Given the description of an element on the screen output the (x, y) to click on. 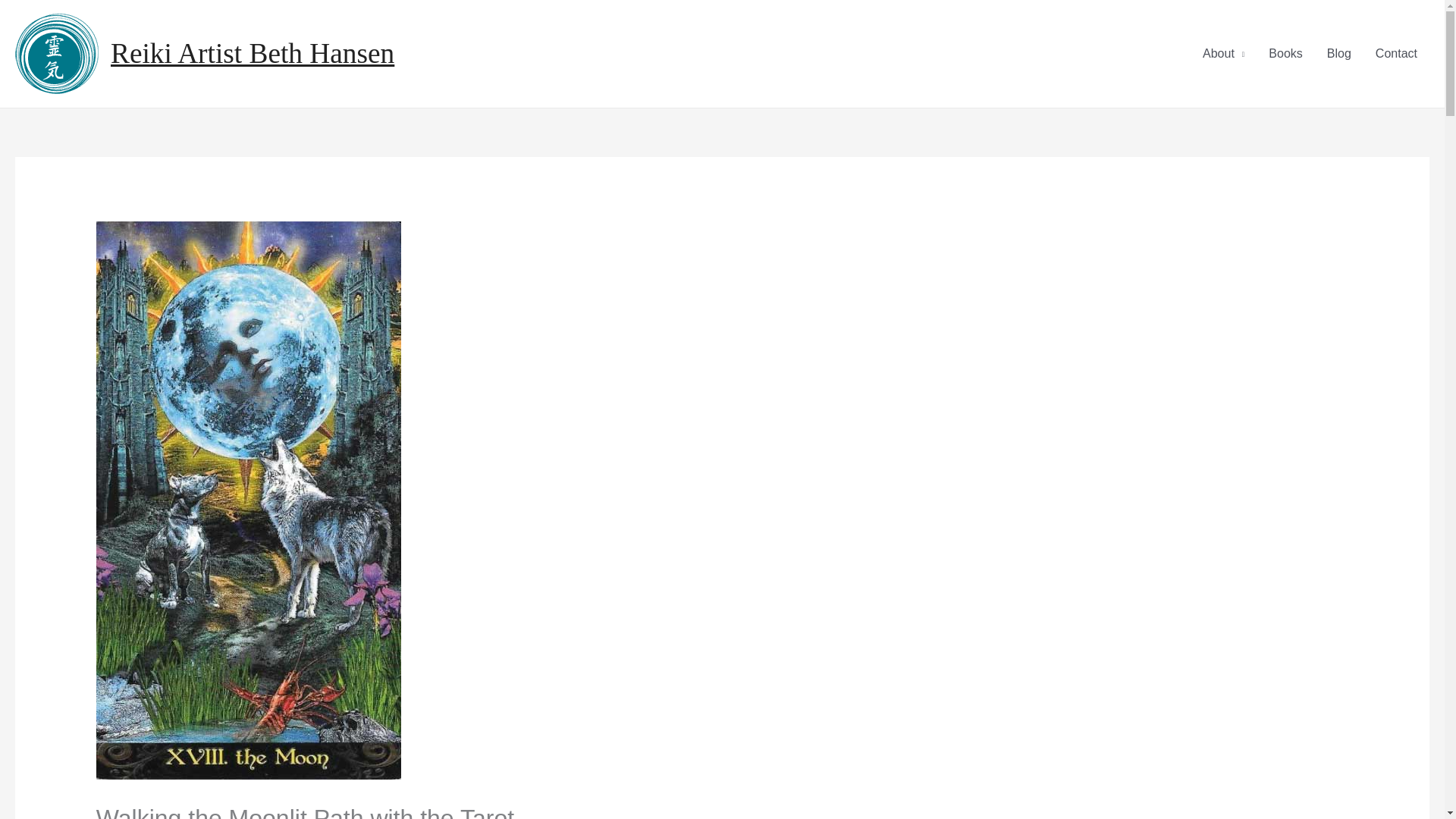
Reiki Artist Beth Hansen (252, 52)
